Given the description of an element on the screen output the (x, y) to click on. 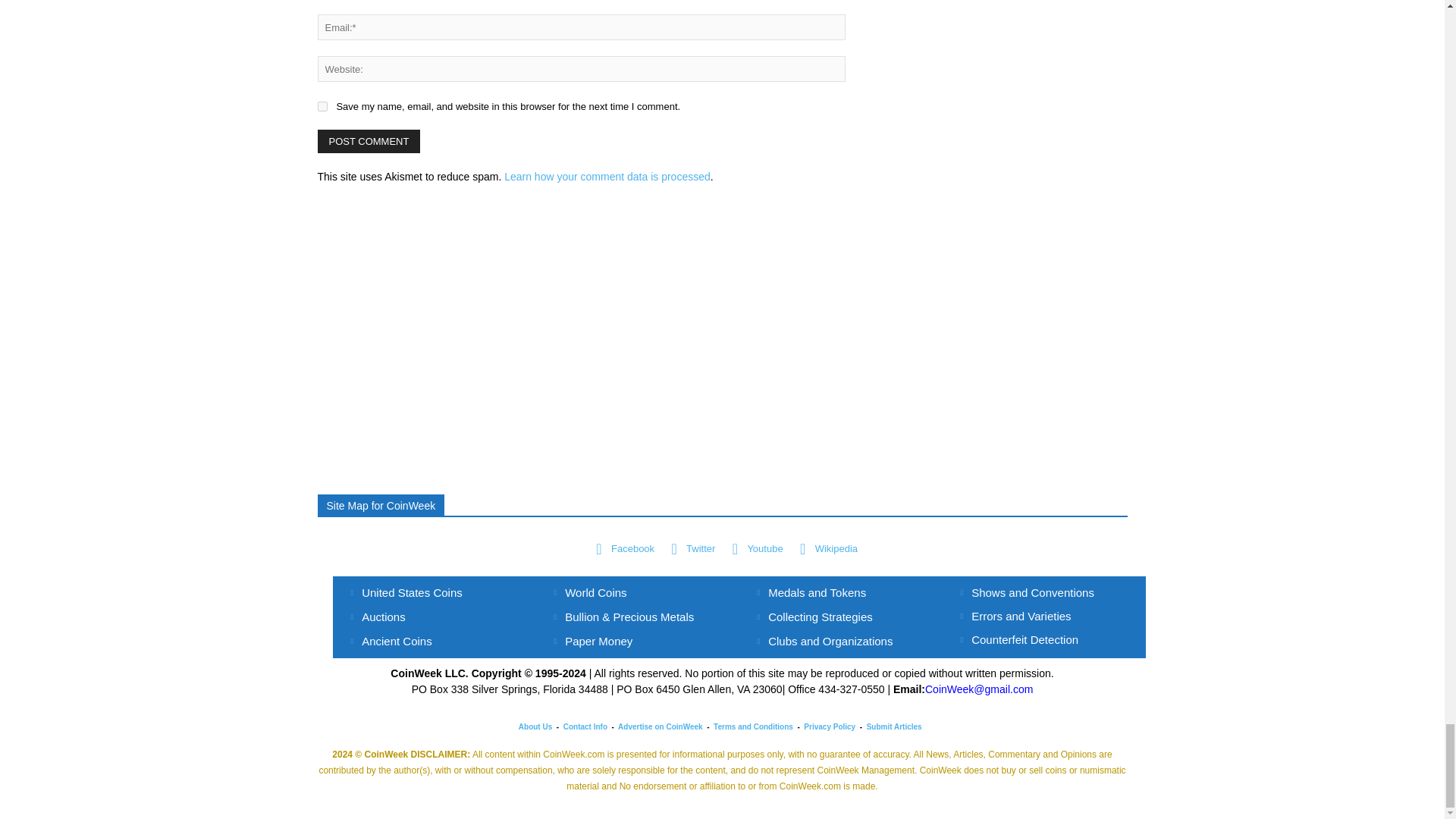
Post Comment (368, 141)
yes (321, 106)
